Given the description of an element on the screen output the (x, y) to click on. 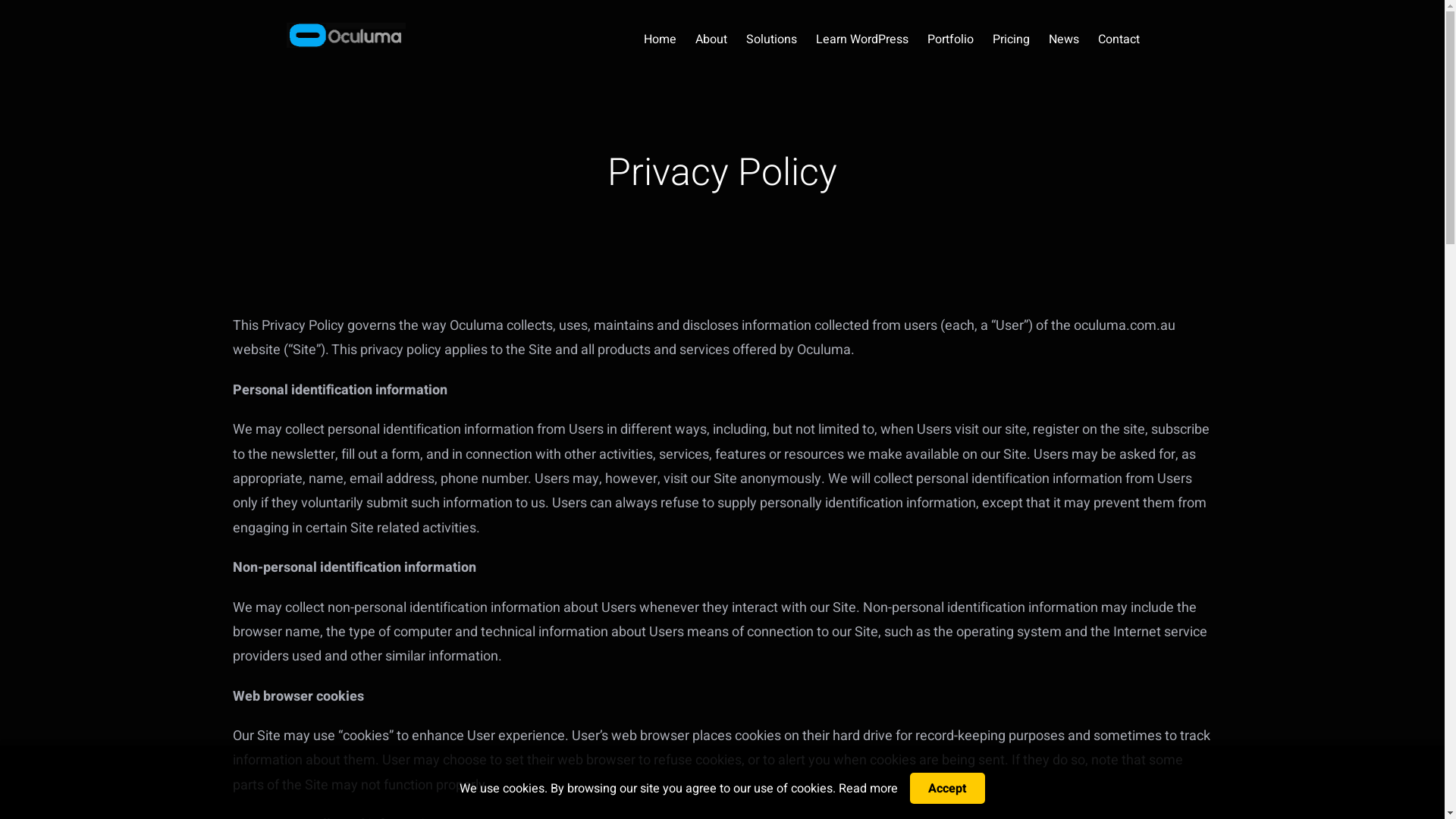
Home Element type: text (659, 39)
Portfolio Element type: text (949, 39)
Solutions Element type: text (771, 39)
About Element type: text (710, 39)
Contact Element type: text (1118, 39)
Learn WordPress Element type: text (861, 39)
Pricing Element type: text (1010, 39)
Read more Element type: text (867, 787)
News Element type: text (1063, 39)
